Given the description of an element on the screen output the (x, y) to click on. 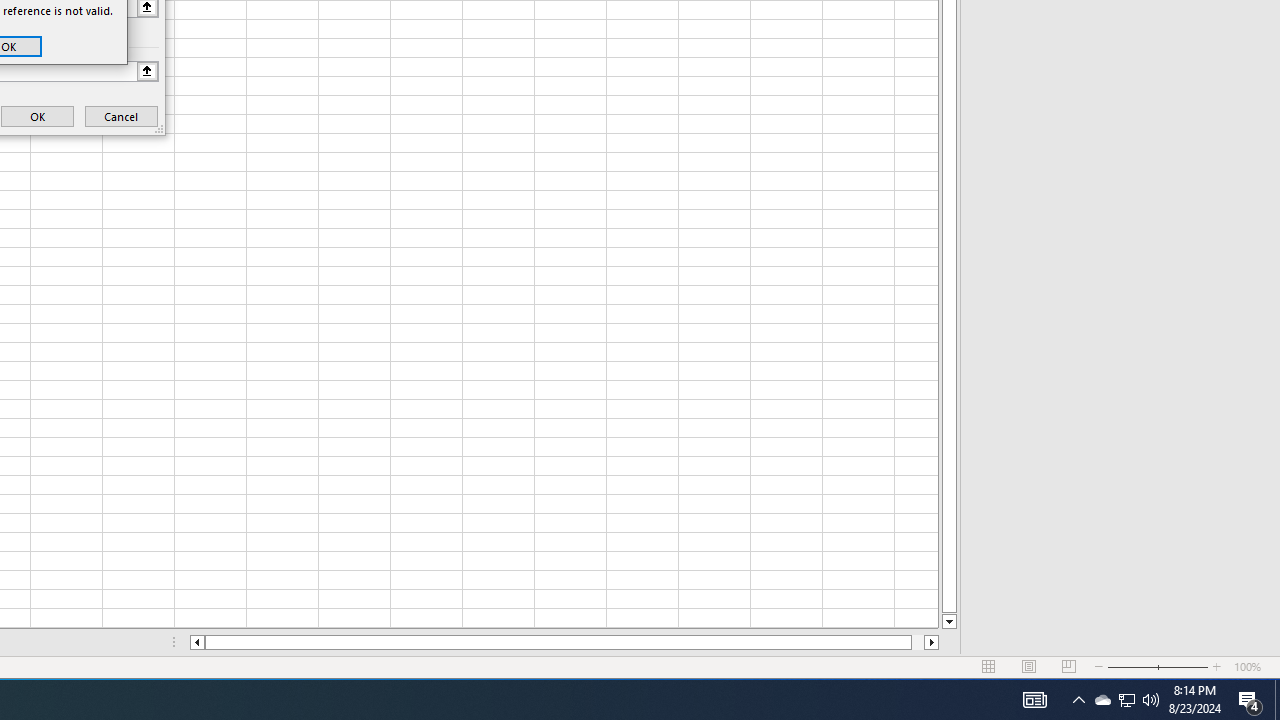
OK (37, 116)
AutomationID: 4105 (1034, 699)
Cancel (121, 116)
Action Center, 4 new notifications (1250, 699)
